Given the description of an element on the screen output the (x, y) to click on. 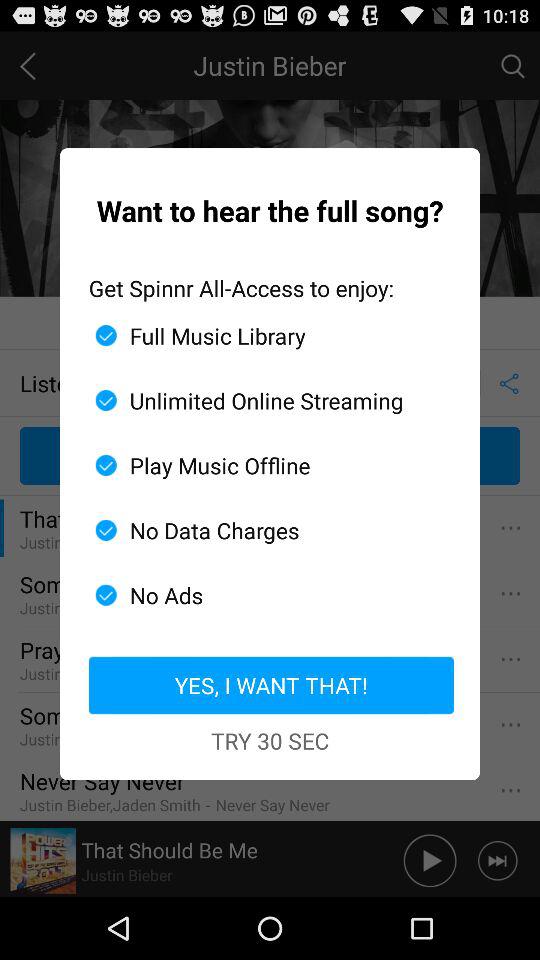
open the icon below the play music offline item (261, 530)
